Given the description of an element on the screen output the (x, y) to click on. 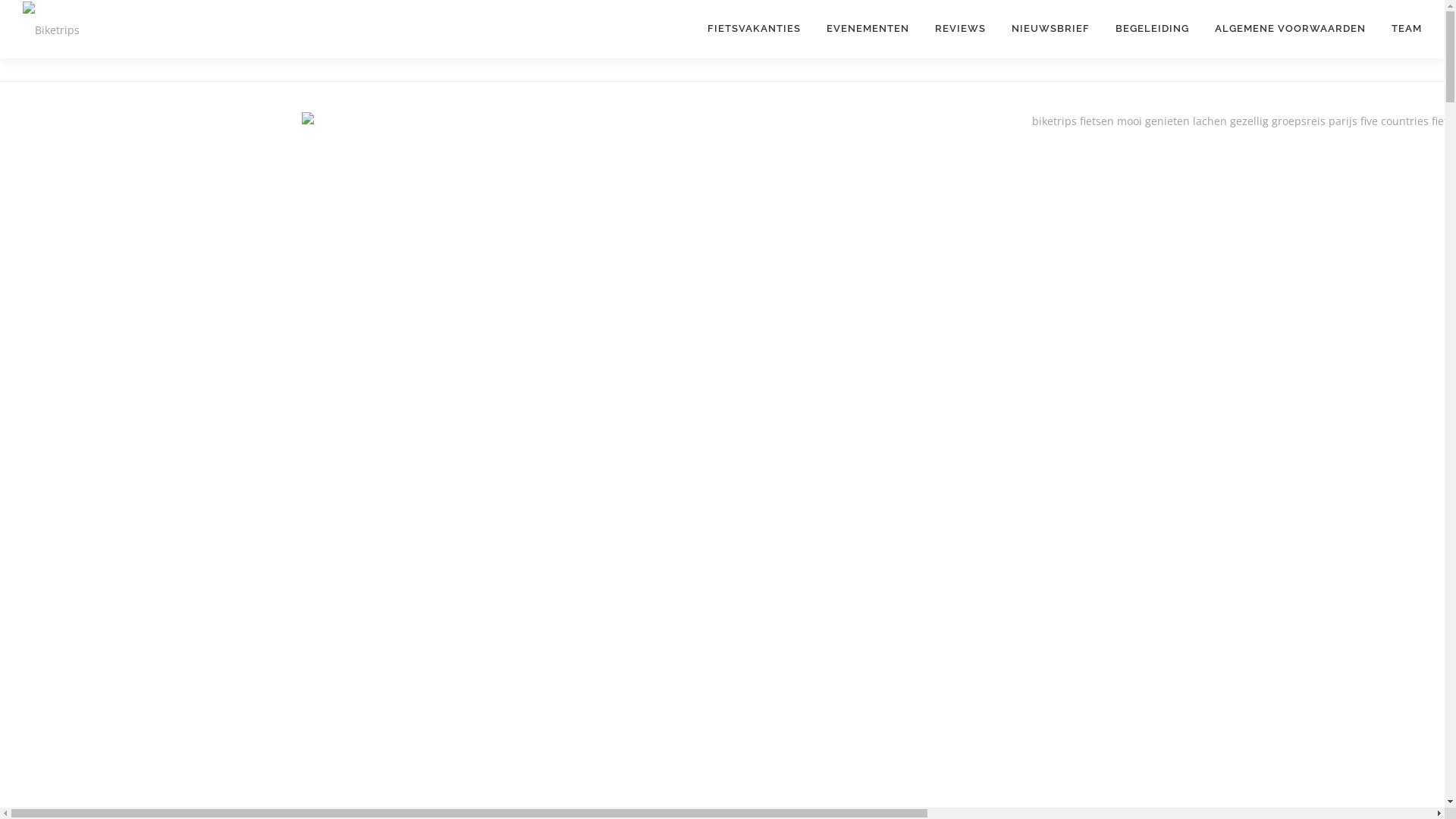
REVIEWS Element type: text (960, 28)
BEGELEIDING Element type: text (1151, 28)
NIEUWSBRIEF Element type: text (1050, 28)
TEAM Element type: text (1399, 28)
EVENEMENTEN Element type: text (867, 28)
FIETSVAKANTIES Element type: text (753, 28)
ALGEMENE VOORWAARDEN Element type: text (1289, 28)
